Given the description of an element on the screen output the (x, y) to click on. 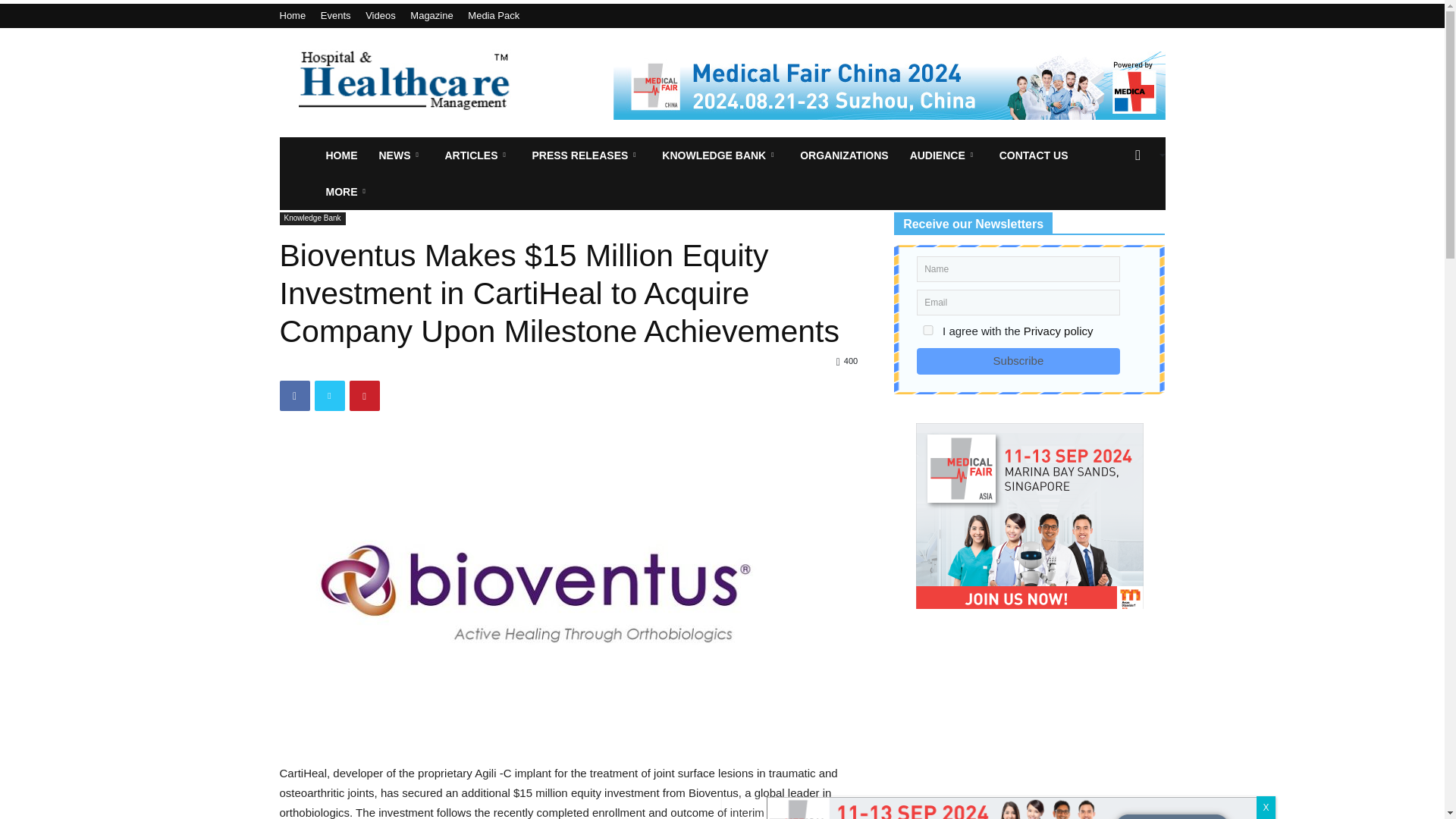
Videos (380, 15)
NEWS (400, 155)
Media Pack (493, 15)
on (928, 329)
Magazine (431, 15)
Events (335, 15)
Home (292, 15)
HOME (341, 155)
Subscribe (1018, 360)
